Given the description of an element on the screen output the (x, y) to click on. 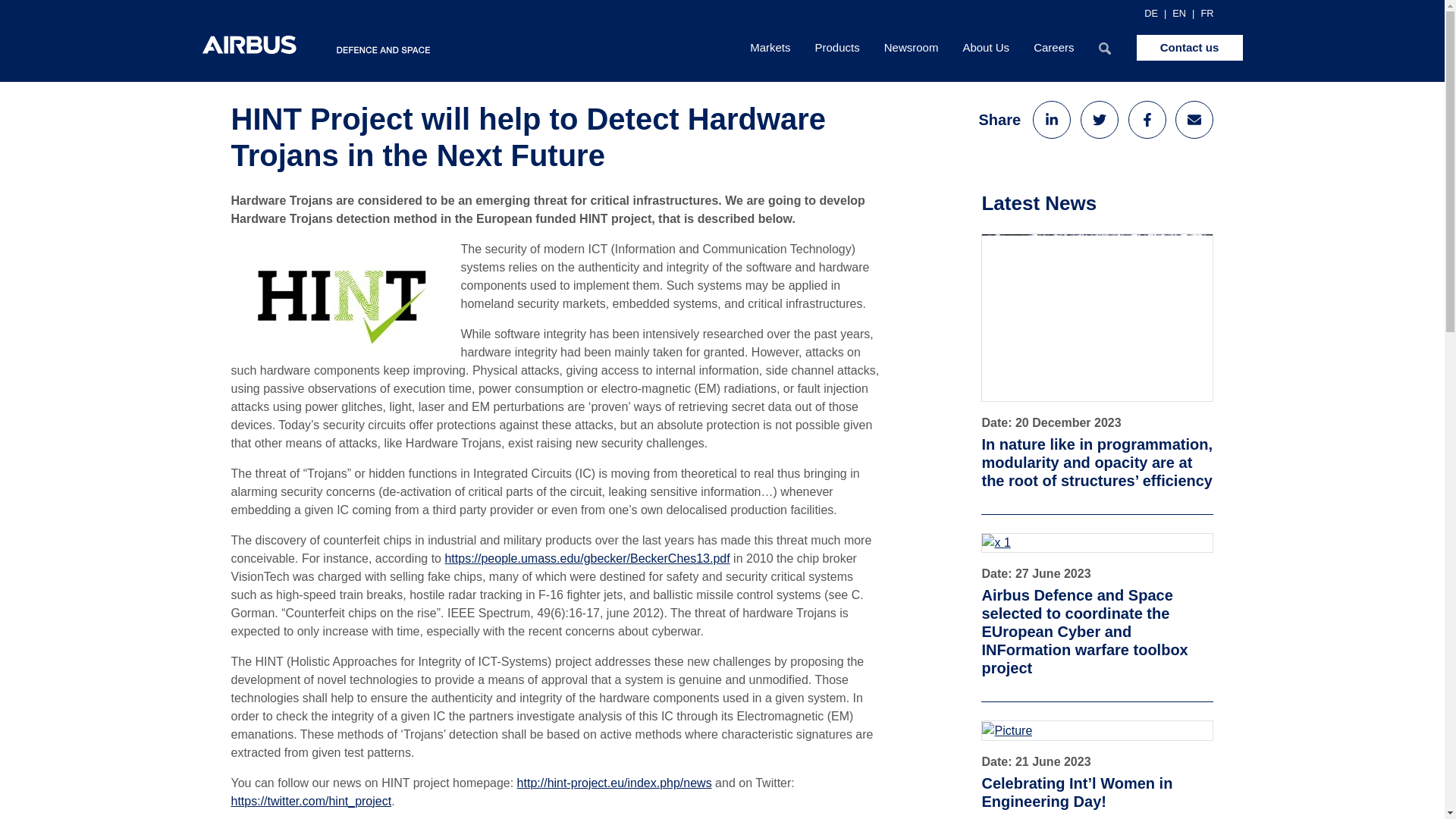
DE (1150, 12)
FR (1205, 12)
About Us (986, 47)
Careers (1054, 47)
Markets (770, 47)
Contact us (1188, 47)
EN (1179, 12)
Newsroom (911, 47)
Products (837, 47)
